Given the description of an element on the screen output the (x, y) to click on. 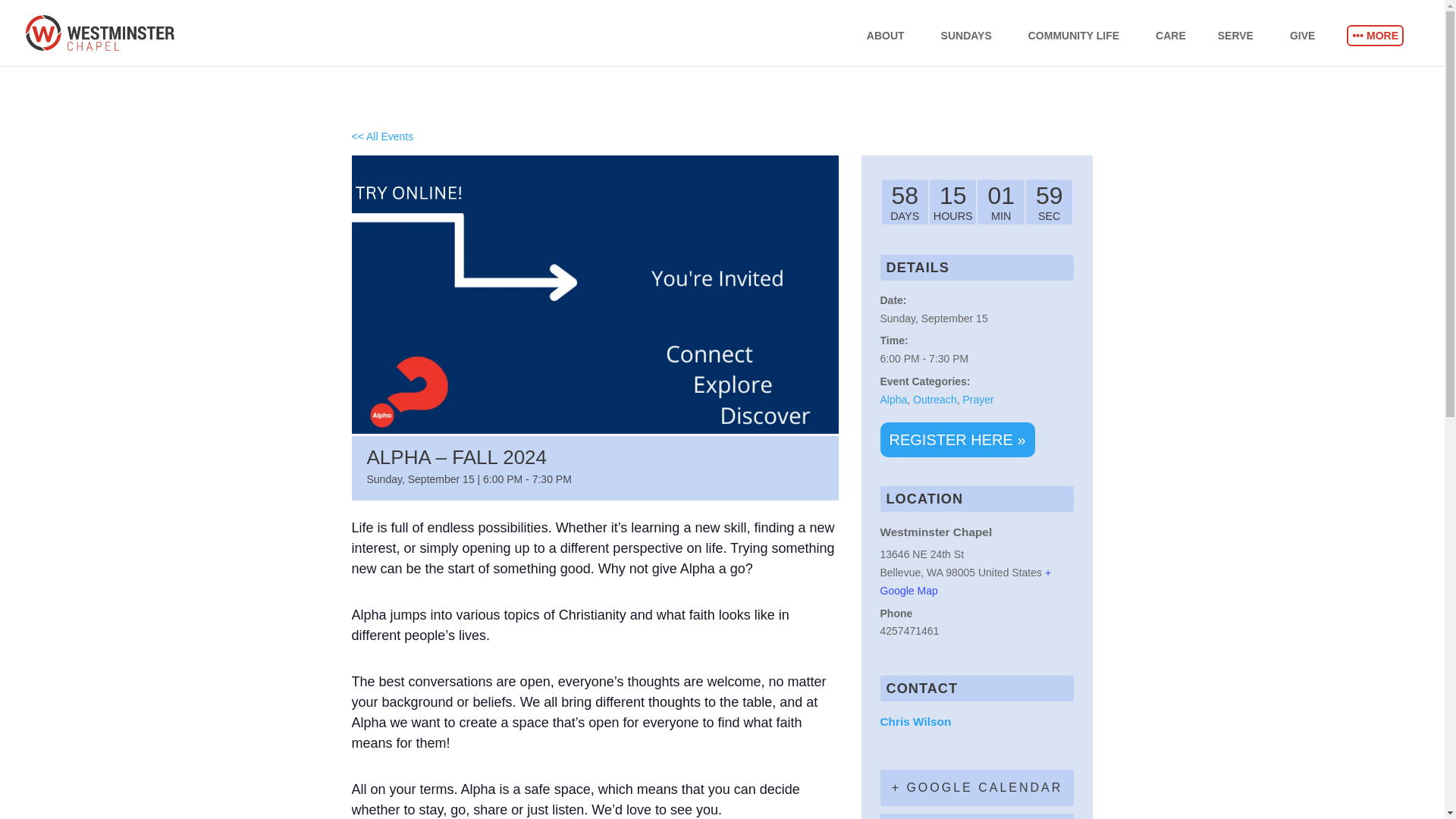
ABOUT (895, 48)
Download .ics file (976, 816)
COMMUNITY LIFE (1082, 48)
SUNDAYS (975, 48)
2024-09-15 (933, 318)
2024-09-15 (976, 359)
Washington (934, 572)
Click to view a Google Map (965, 581)
SERVE (1244, 48)
Add to Google Calendar (976, 787)
